Given the description of an element on the screen output the (x, y) to click on. 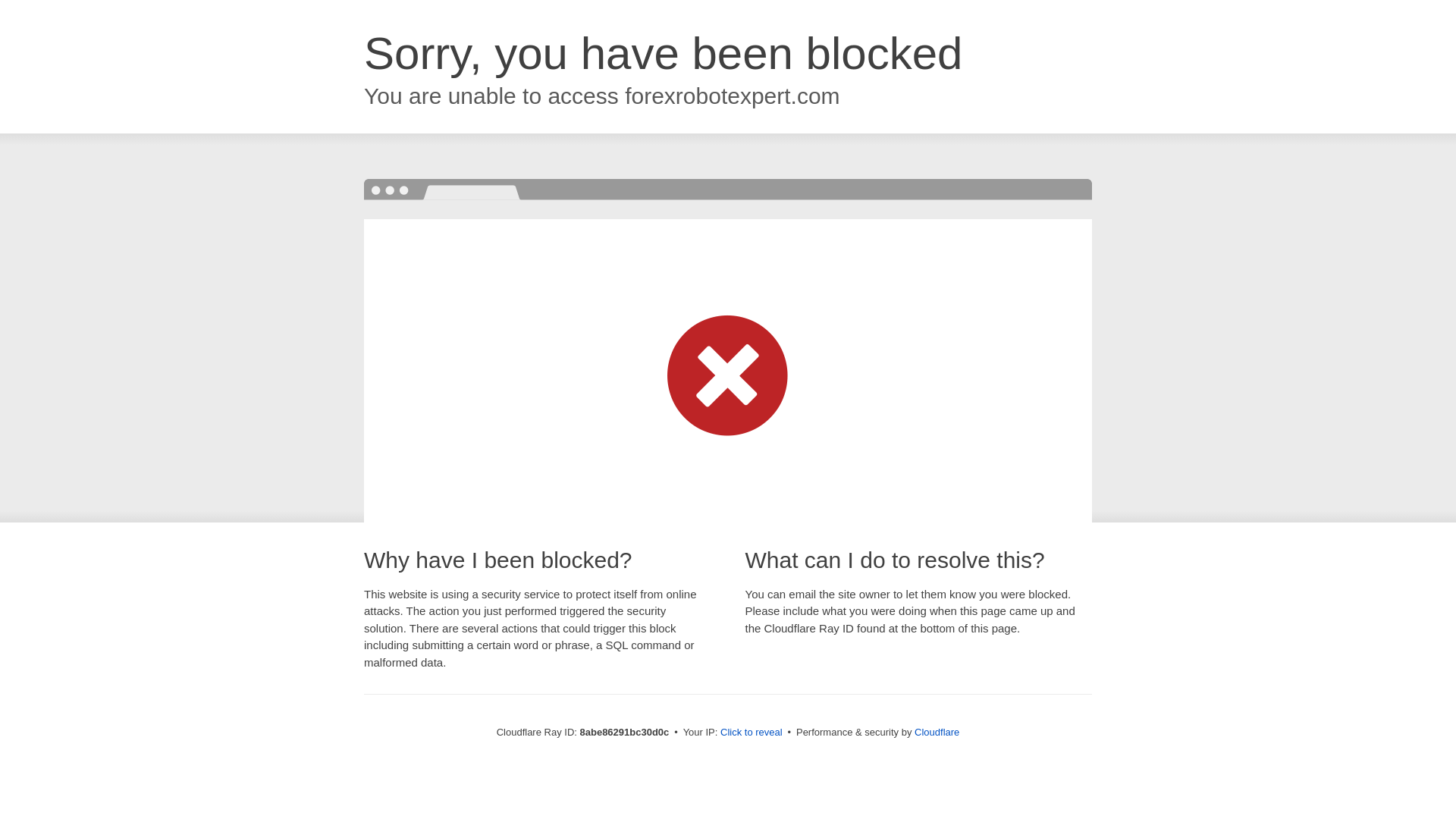
Cloudflare (936, 731)
Click to reveal (751, 732)
